Given the description of an element on the screen output the (x, y) to click on. 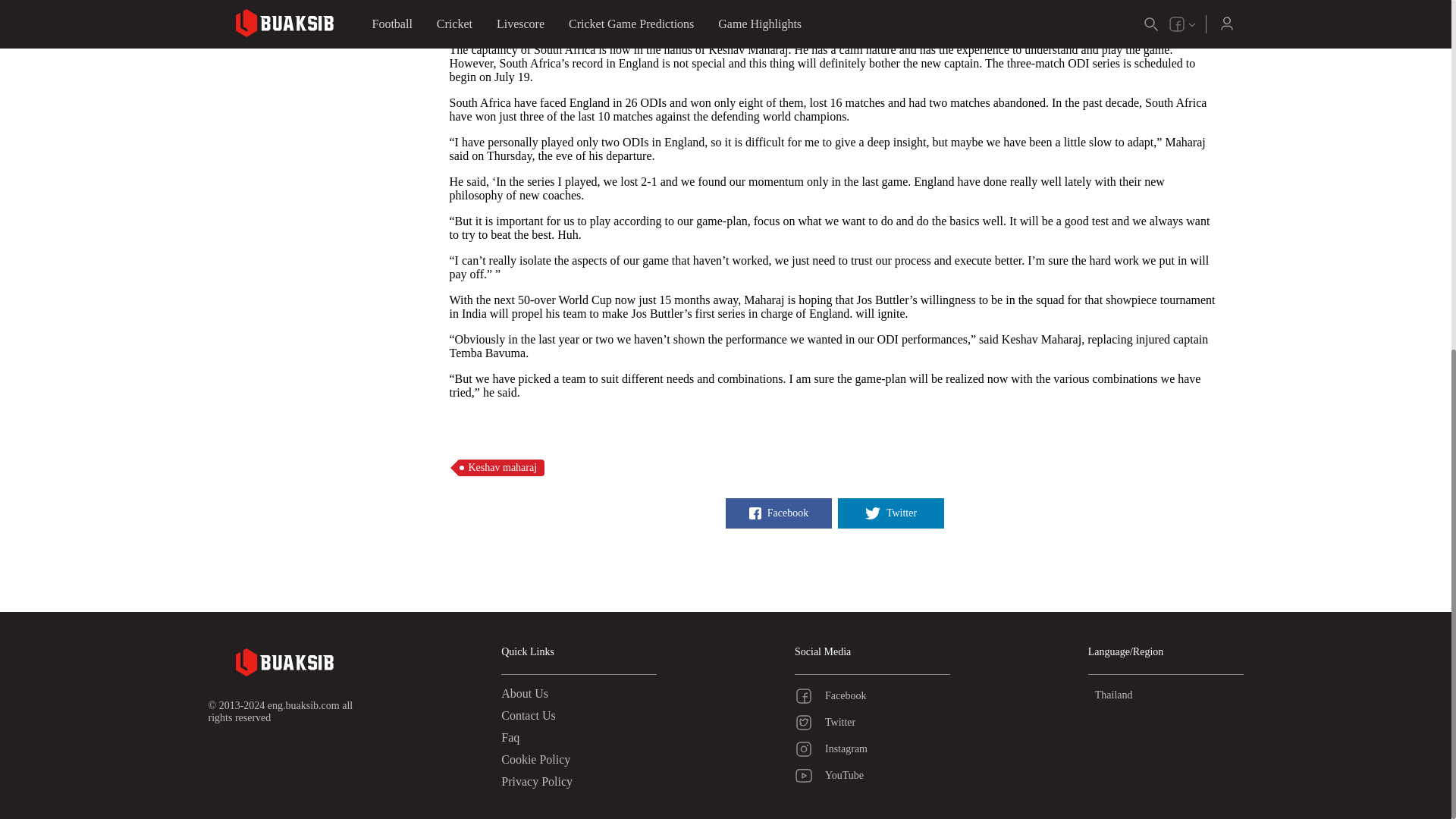
Facebook (778, 512)
Facebook (872, 696)
Contact Us (528, 715)
Twitter (872, 722)
About Us (524, 693)
Instagram (872, 749)
Keshav maharaj (500, 467)
Faq (509, 737)
Twitter (890, 512)
Keshav maharaj (500, 467)
